Given the description of an element on the screen output the (x, y) to click on. 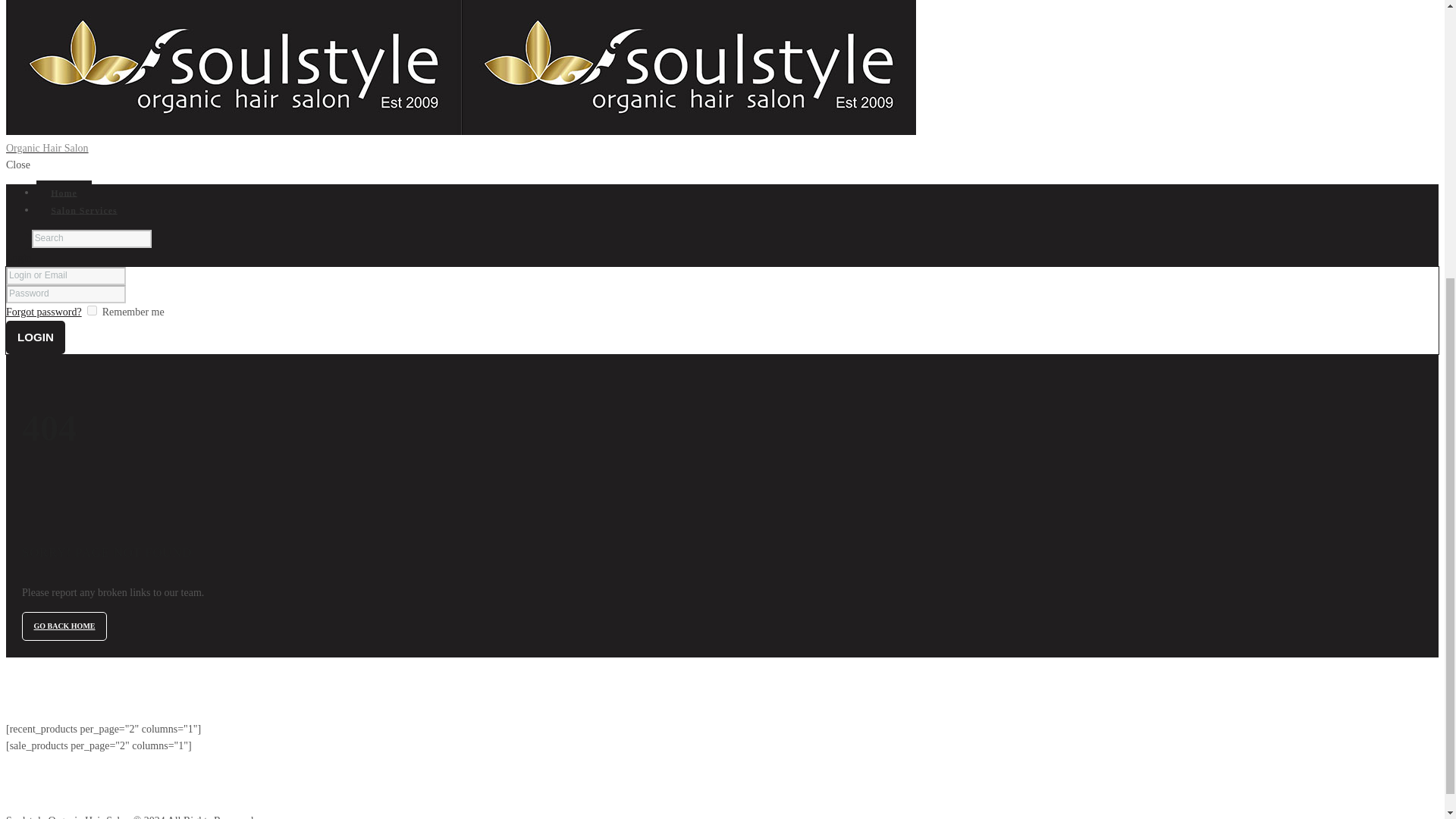
Salon Services (84, 210)
forever (92, 310)
Login (35, 337)
Login (17, 257)
Forgot password? (43, 311)
Start search (17, 241)
Login (35, 337)
Home (63, 192)
GO BACK HOME (63, 625)
